Given the description of an element on the screen output the (x, y) to click on. 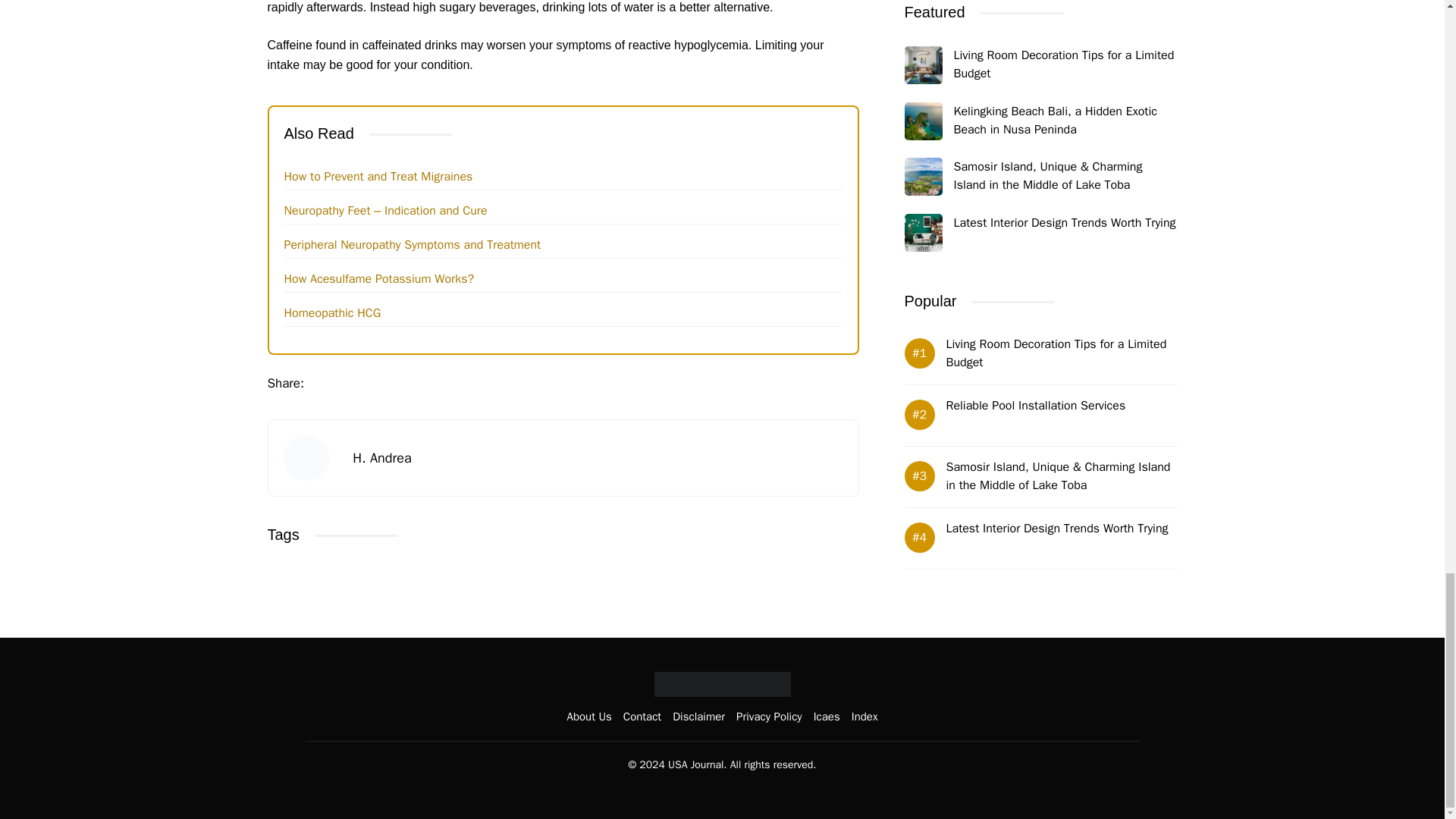
How Acesulfame Potassium Works? (378, 278)
Homeopathic HCG (331, 313)
Peripheral Neuropathy Symptoms and Treatment (411, 244)
Usa Journal (721, 683)
How to Prevent and Treat Migraines (377, 176)
